Given the description of an element on the screen output the (x, y) to click on. 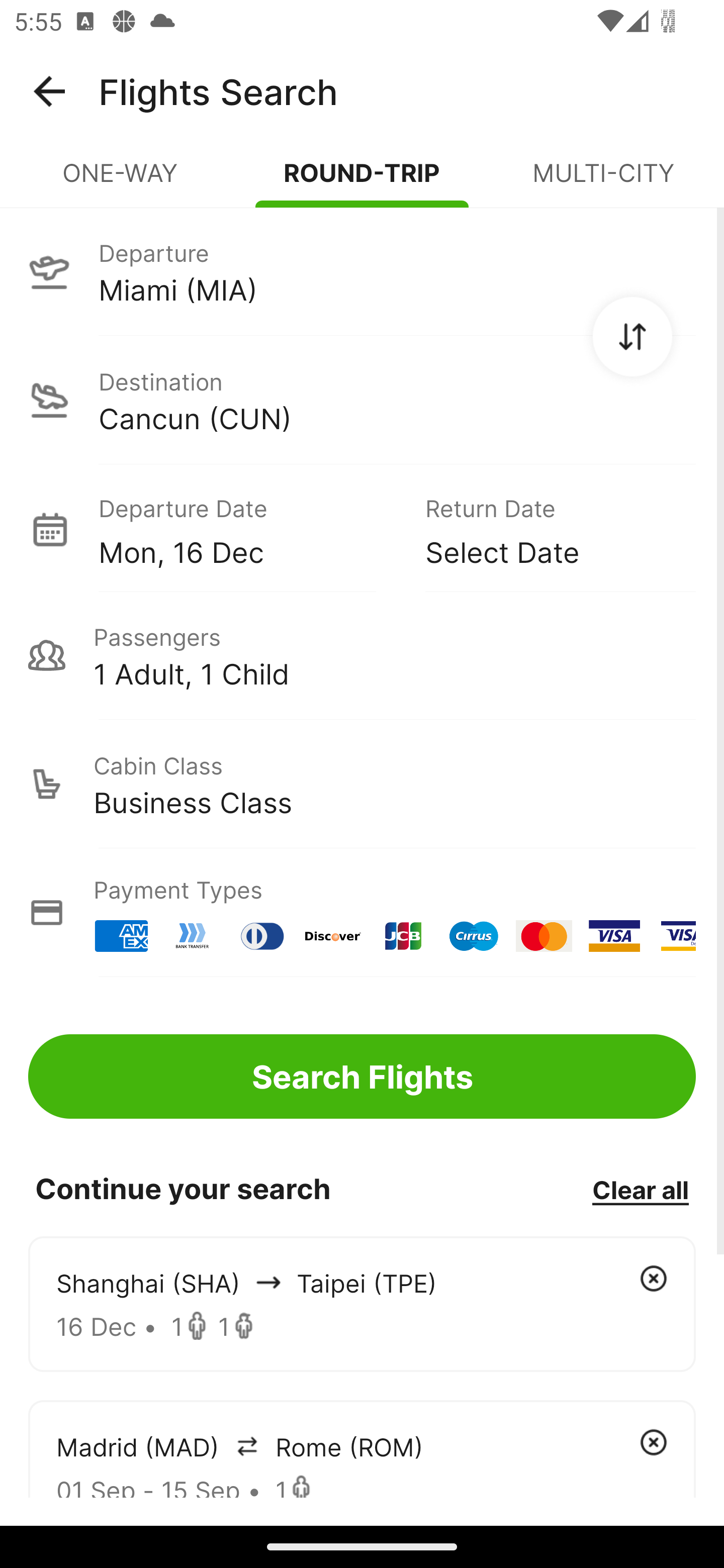
ONE-WAY (120, 180)
ROUND-TRIP (361, 180)
MULTI-CITY (603, 180)
Departure Miami (MIA) (362, 270)
Destination Cancun (CUN) (362, 400)
Departure Date Mon, 16 Dec (247, 528)
Return Date Select Date (546, 528)
Passengers 1 Adult, 1 Child (362, 655)
Cabin Class Business Class (362, 783)
Payment Types (362, 912)
Search Flights (361, 1075)
Clear all (640, 1189)
